Given the description of an element on the screen output the (x, y) to click on. 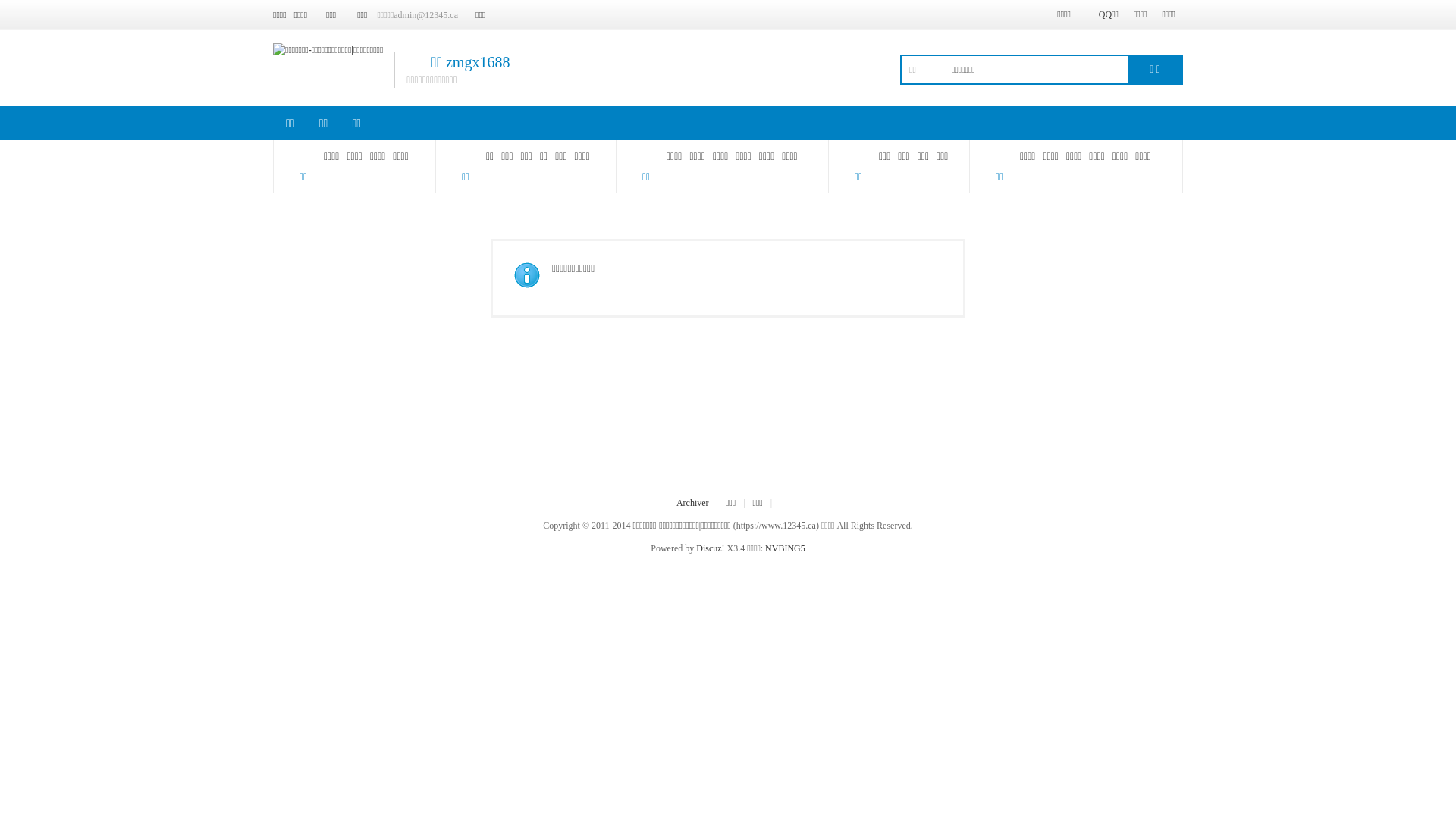
NVBING5 Element type: text (785, 547)
Archiver Element type: text (692, 502)
Discuz! Element type: text (710, 547)
